Given the description of an element on the screen output the (x, y) to click on. 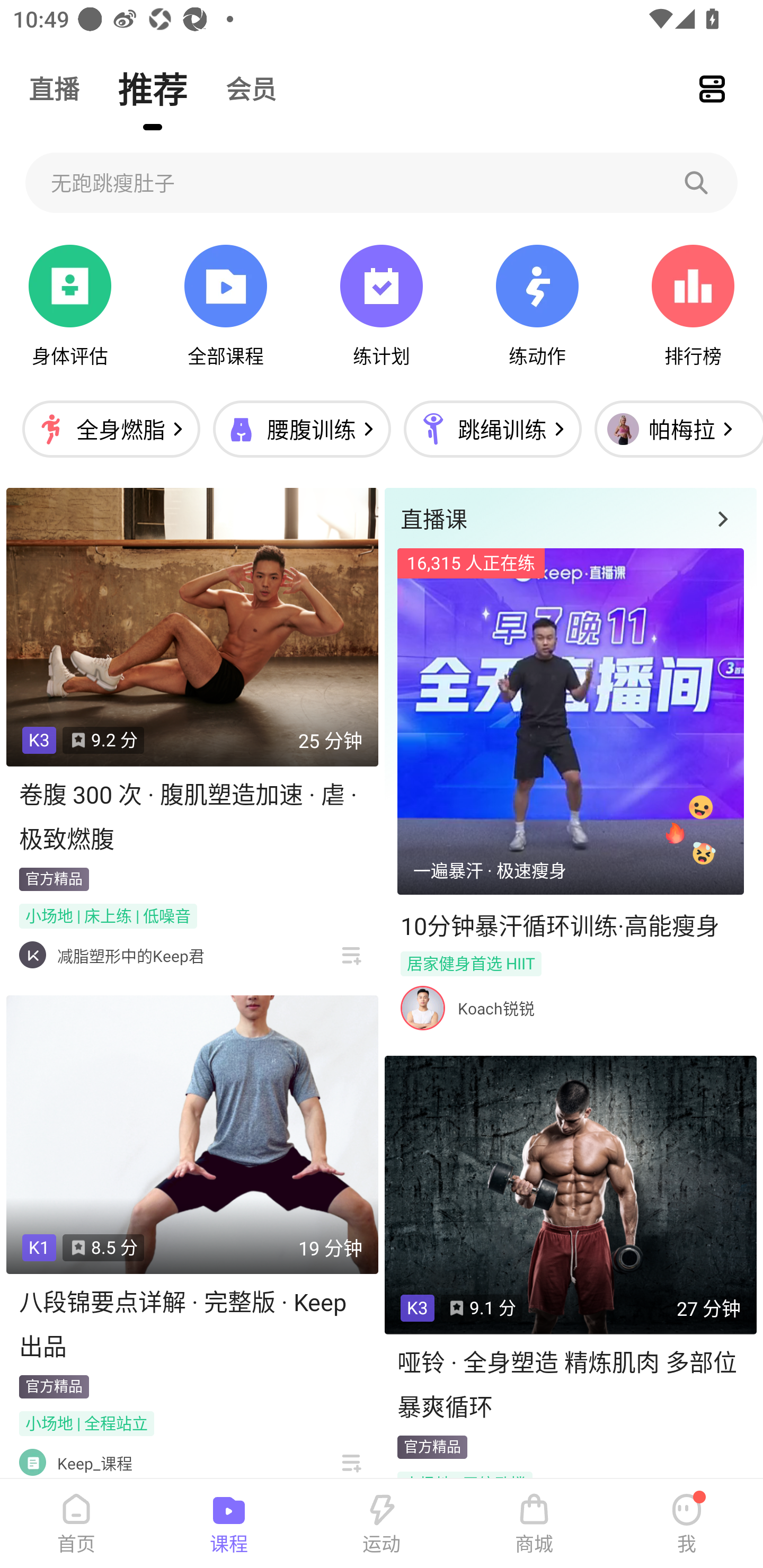
直播 (53, 88)
推荐 (152, 88)
会员 (251, 88)
哑铃 (381, 182)
身体评估 (69, 306)
全部课程 (225, 306)
练计划 (381, 306)
练动作 (537, 306)
排行榜 (692, 306)
全身燃脂 更多 (110, 428)
腰腹训练 更多 (301, 428)
跳绳训练 更多 (492, 428)
帕梅拉 更多 (673, 428)
直播课 (570, 517)
减脂塑形中的Keep君 (130, 956)
Koach锐锐 (495, 1008)
Keep_课程 (94, 1462)
首页 (76, 1523)
课程 (228, 1523)
运动 (381, 1523)
商城 (533, 1523)
我 (686, 1523)
